Given the description of an element on the screen output the (x, y) to click on. 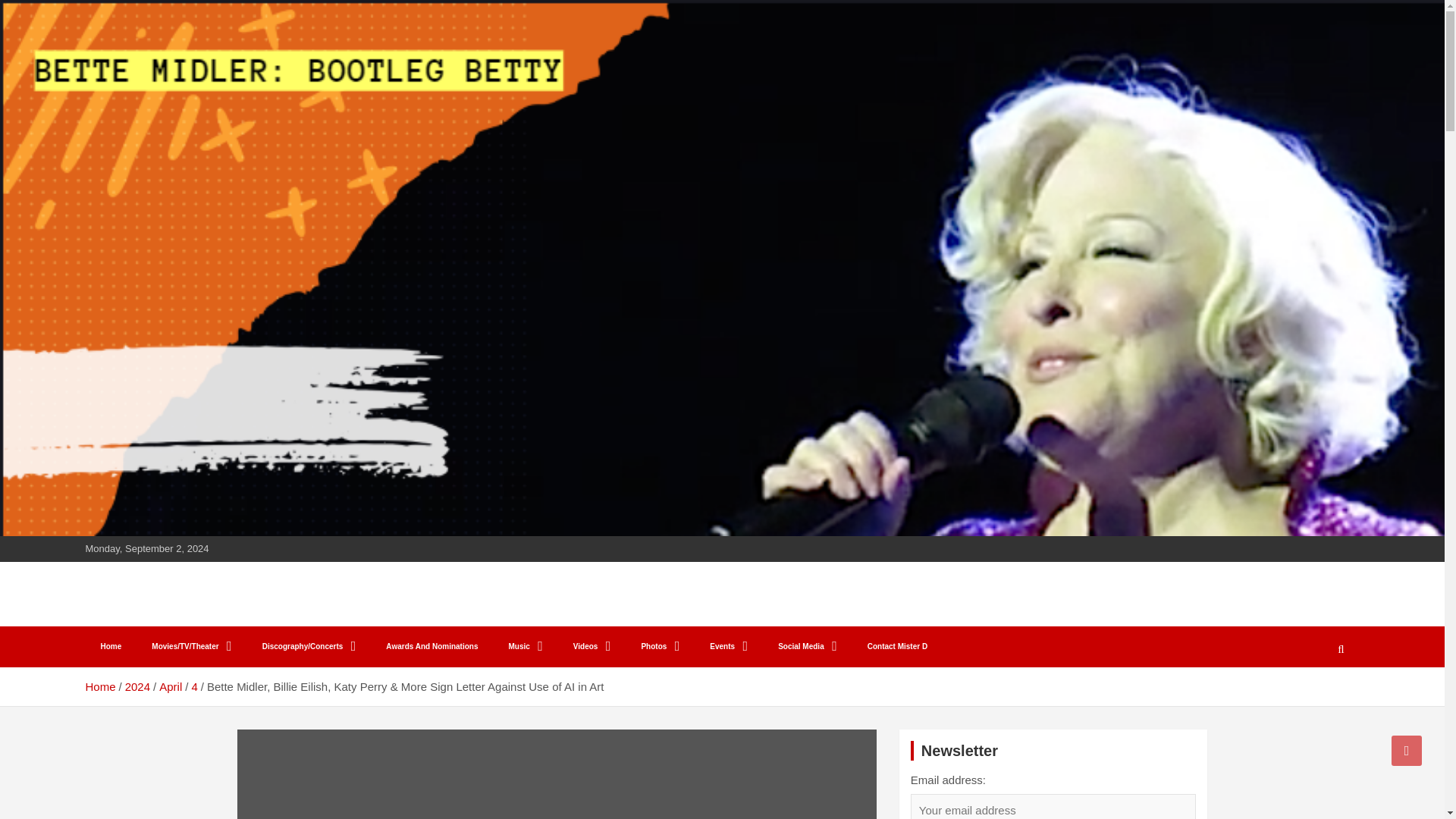
Jukebox Music (525, 646)
Awards And Nominations (432, 646)
Social Media (806, 646)
Music (525, 646)
Photos (660, 646)
Events (728, 646)
Contact Mister D (896, 646)
Home (99, 686)
Home (110, 646)
Bootleg Betty (183, 611)
